Given the description of an element on the screen output the (x, y) to click on. 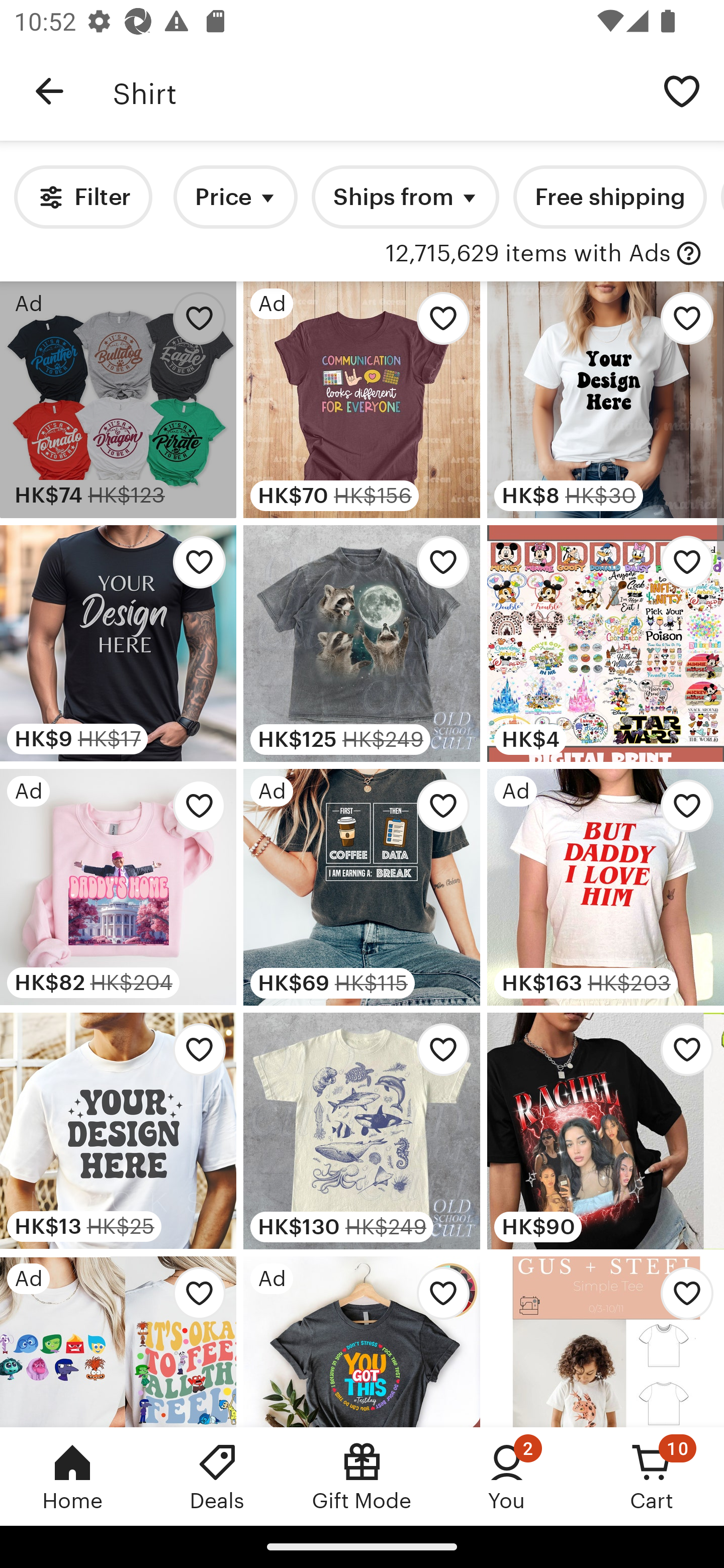
Navigate up (49, 91)
Save search (681, 90)
Shirt (375, 91)
Filter (82, 197)
Price (235, 197)
Ships from (405, 197)
Free shipping (609, 197)
12,715,629 items with Ads (528, 253)
with Ads (688, 253)
Deals (216, 1475)
Gift Mode (361, 1475)
You, 2 new notifications You (506, 1475)
Cart, 10 new notifications Cart (651, 1475)
